Given the description of an element on the screen output the (x, y) to click on. 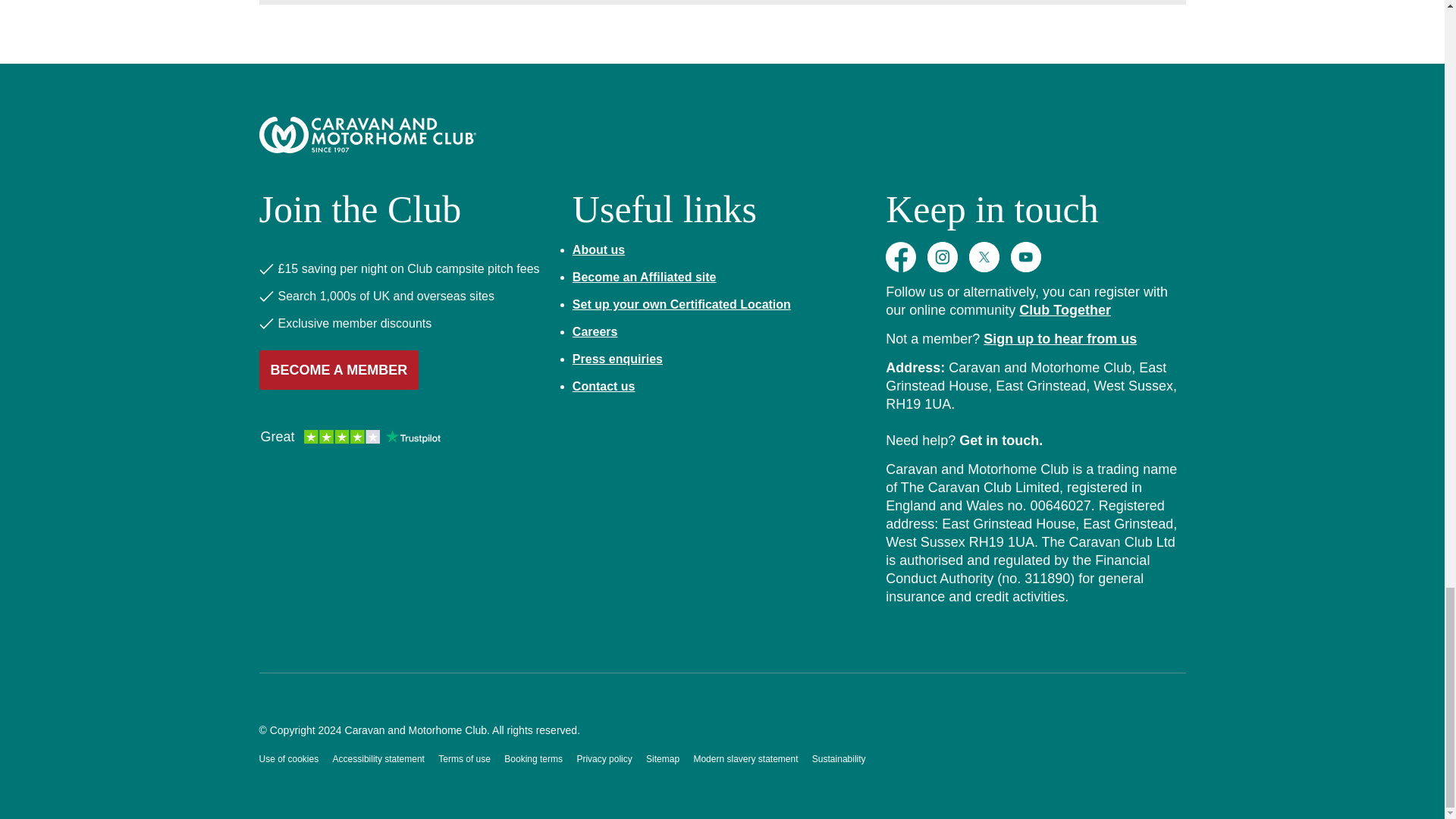
Customer reviews powered by Trustpilot (349, 438)
Twitter (983, 256)
YouTube (1025, 256)
Facebook (900, 256)
Instagram (942, 256)
Club Together (1064, 309)
